Given the description of an element on the screen output the (x, y) to click on. 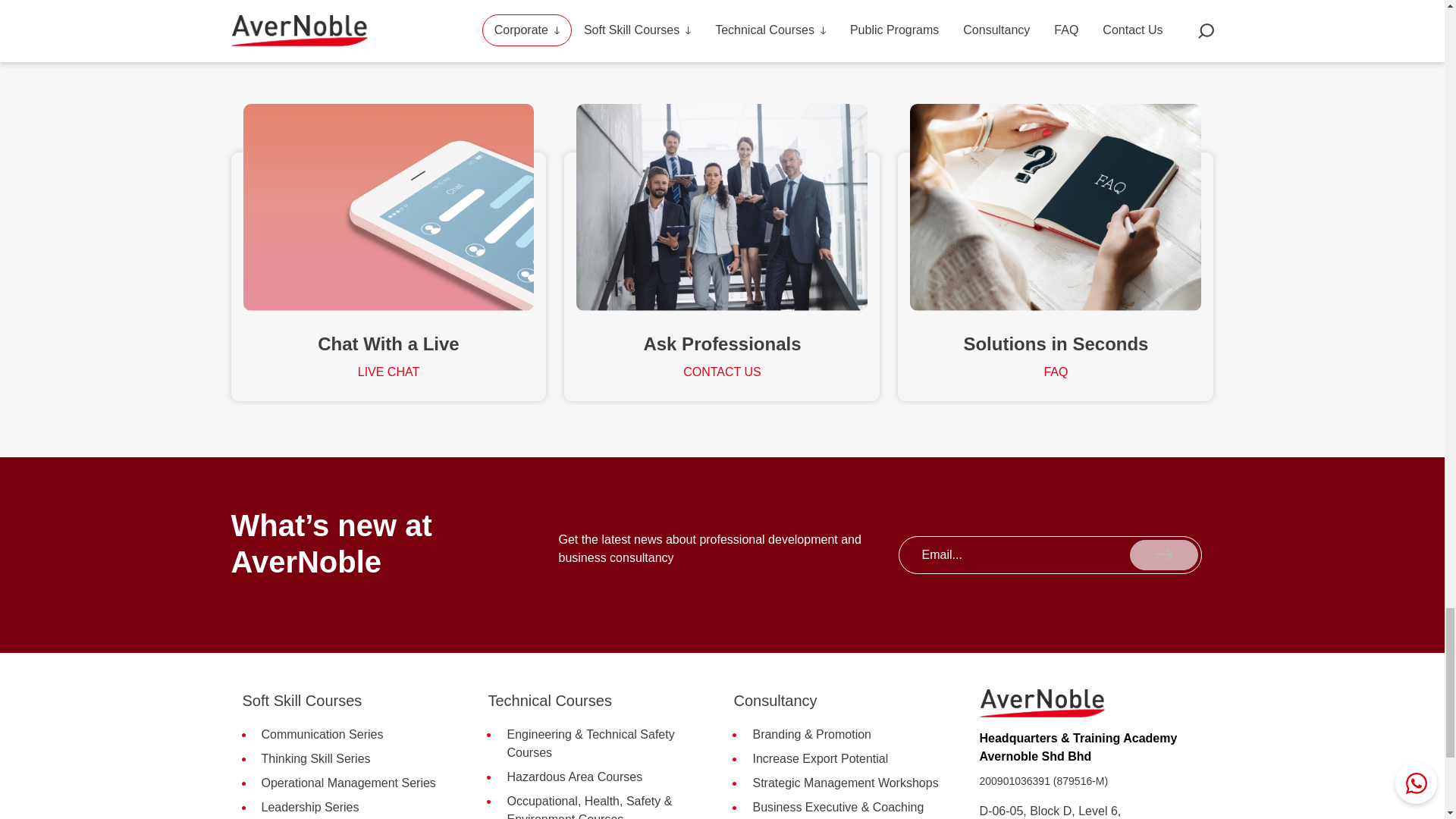
Submit (1163, 554)
